Given the description of an element on the screen output the (x, y) to click on. 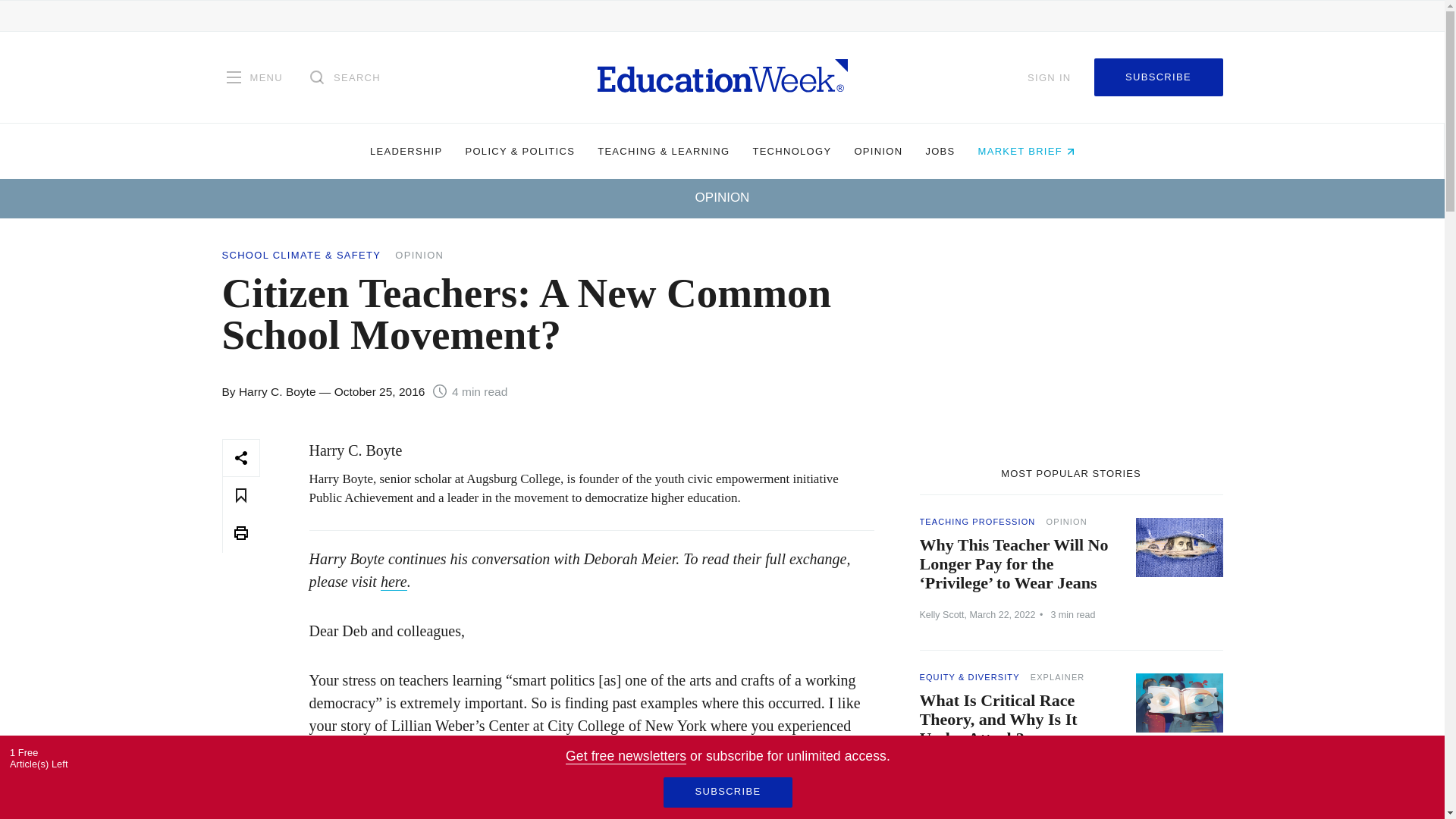
Homepage (721, 76)
